Given the description of an element on the screen output the (x, y) to click on. 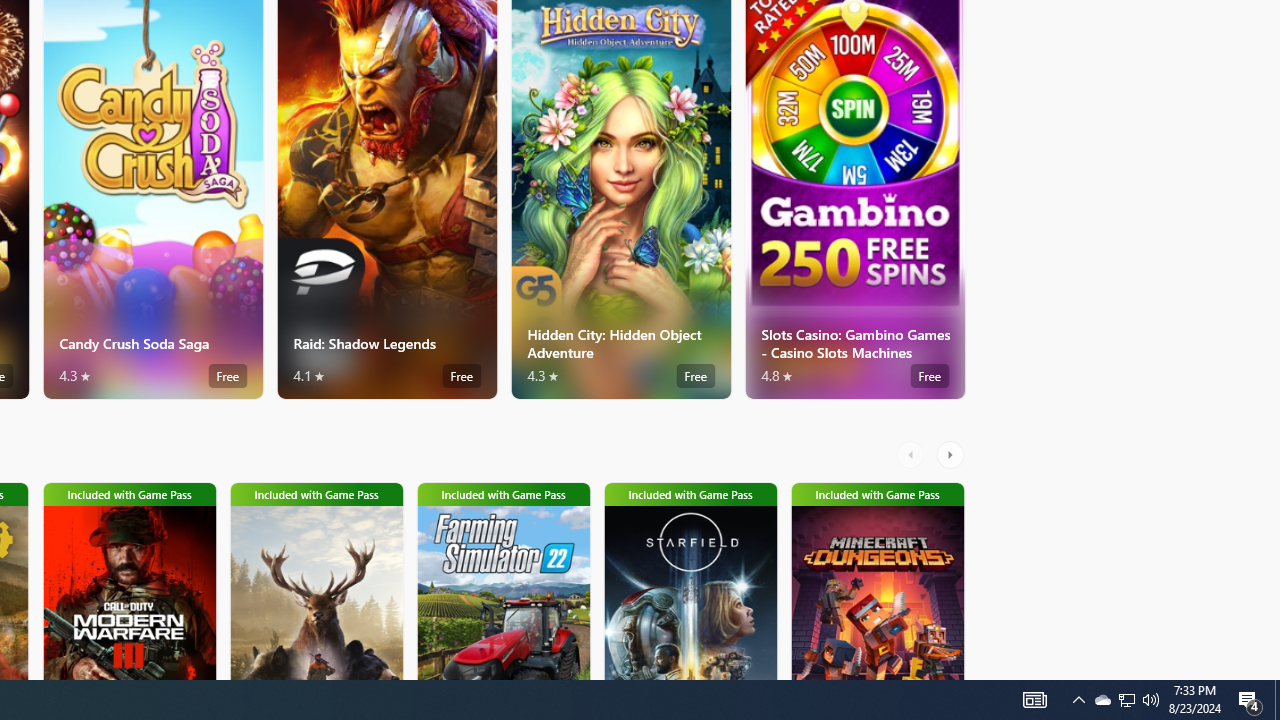
AutomationID: RightScrollButton (952, 454)
AutomationID: LeftScrollButton (913, 454)
